Given the description of an element on the screen output the (x, y) to click on. 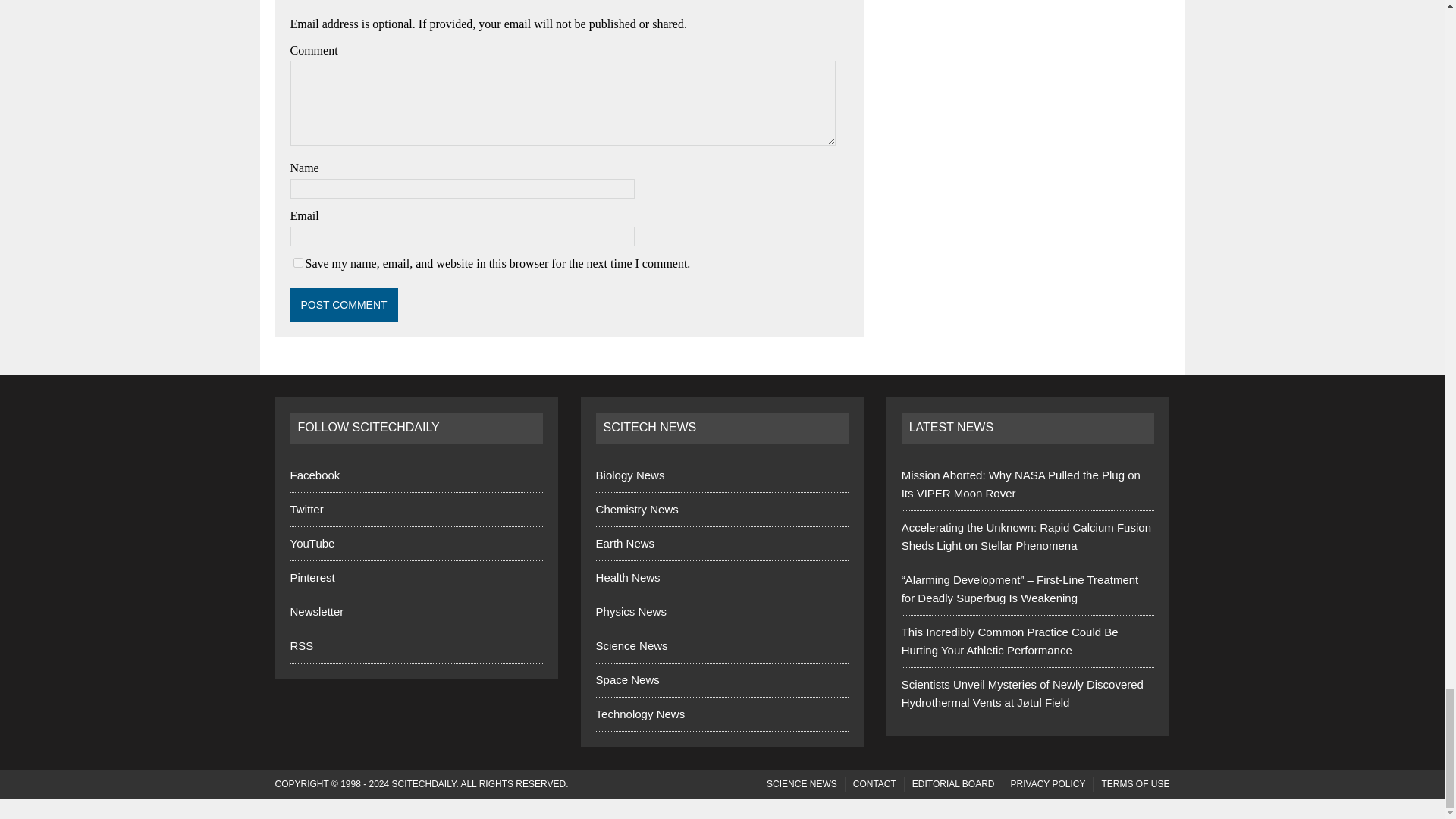
Post Comment (343, 304)
yes (297, 262)
